Given the description of an element on the screen output the (x, y) to click on. 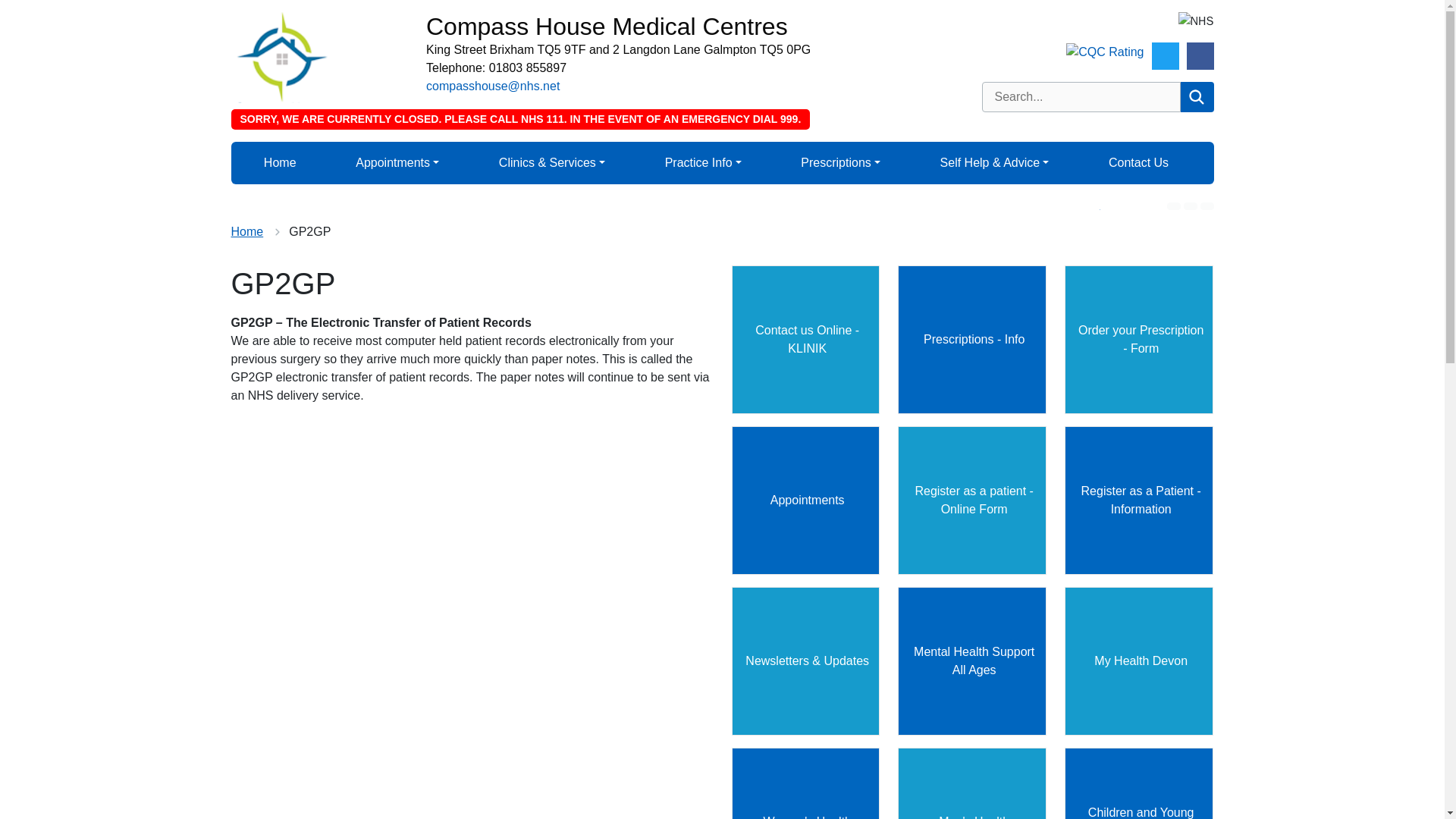
Search (1195, 96)
Home (279, 163)
Compass House Medical Centres (694, 26)
Facebook Link (1199, 55)
Appointments (397, 163)
Practice Info (703, 163)
Twitter Link (1164, 55)
Search for: (1080, 96)
Home (246, 231)
